Given the description of an element on the screen output the (x, y) to click on. 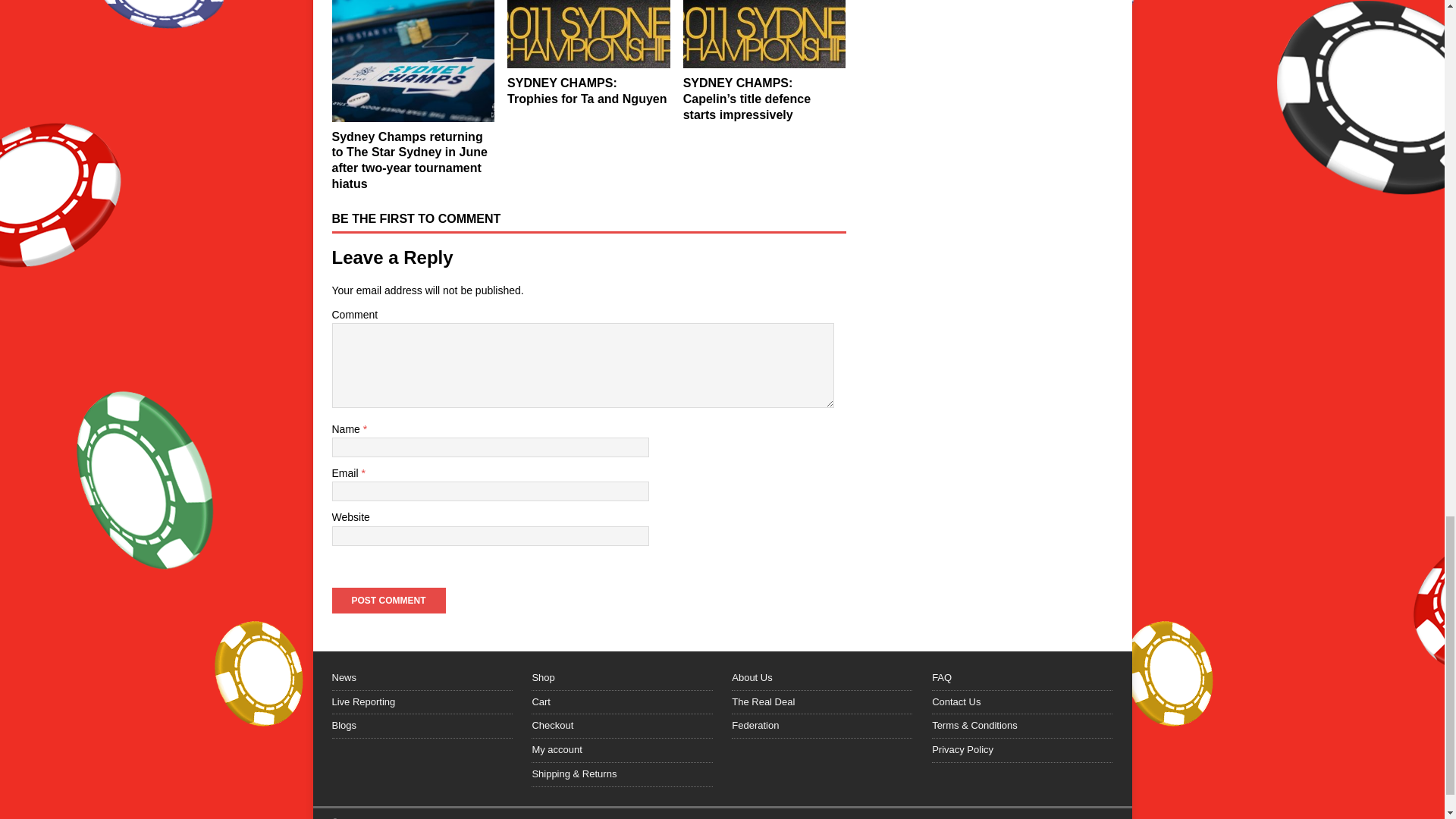
Post Comment (388, 600)
